Given the description of an element on the screen output the (x, y) to click on. 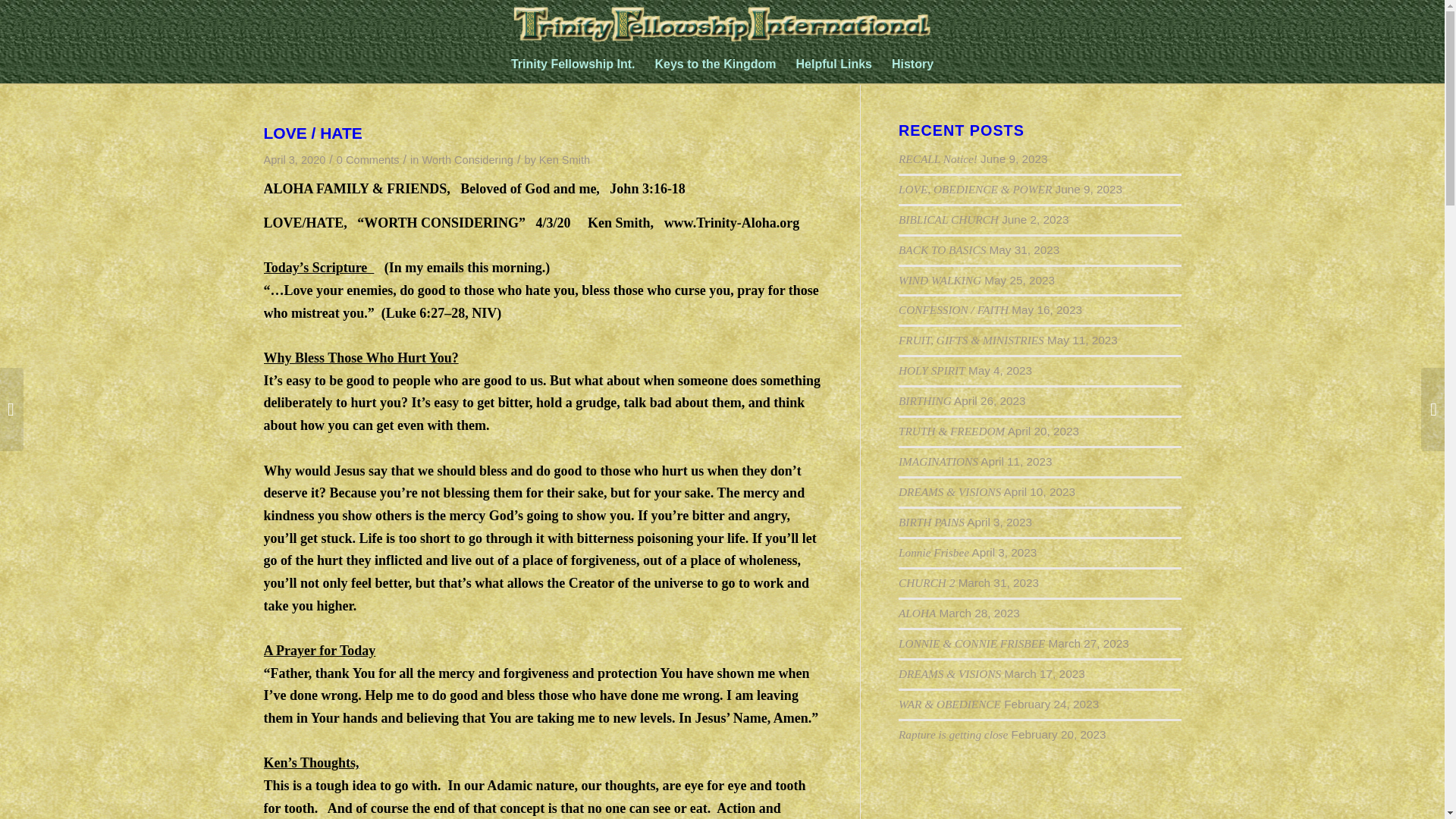
RECALL Notice! (937, 158)
Keys to the Kingdom (715, 64)
WIND WALKING (939, 279)
BIRTHING (925, 400)
www.Trinity-Aloha.org (731, 222)
BIRTH PAINS (930, 521)
History (912, 64)
Posts by Ken Smith (563, 159)
0 Comments (367, 159)
BACK TO BASICS (941, 249)
